Given the description of an element on the screen output the (x, y) to click on. 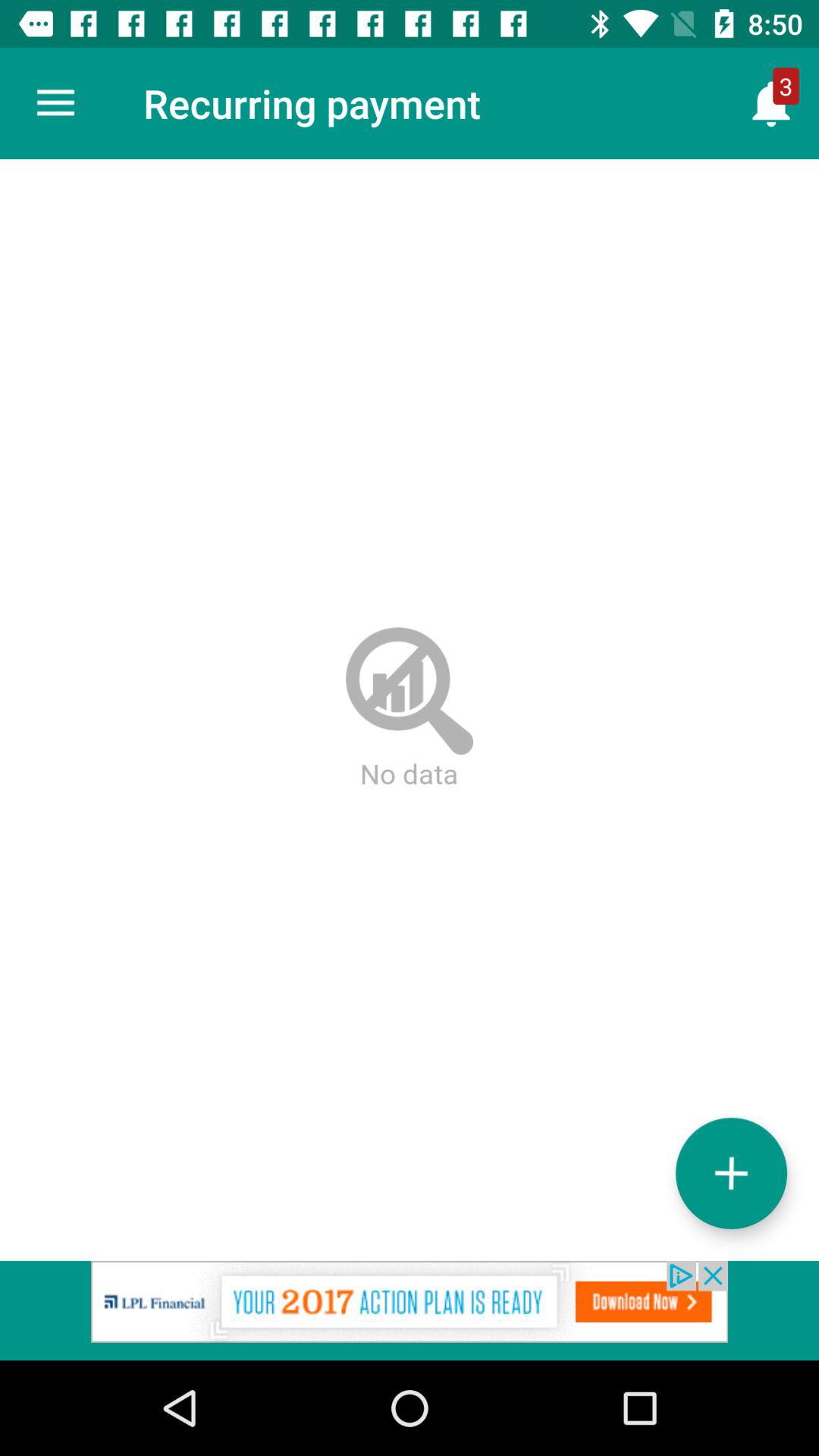
add new payment (731, 1173)
